Given the description of an element on the screen output the (x, y) to click on. 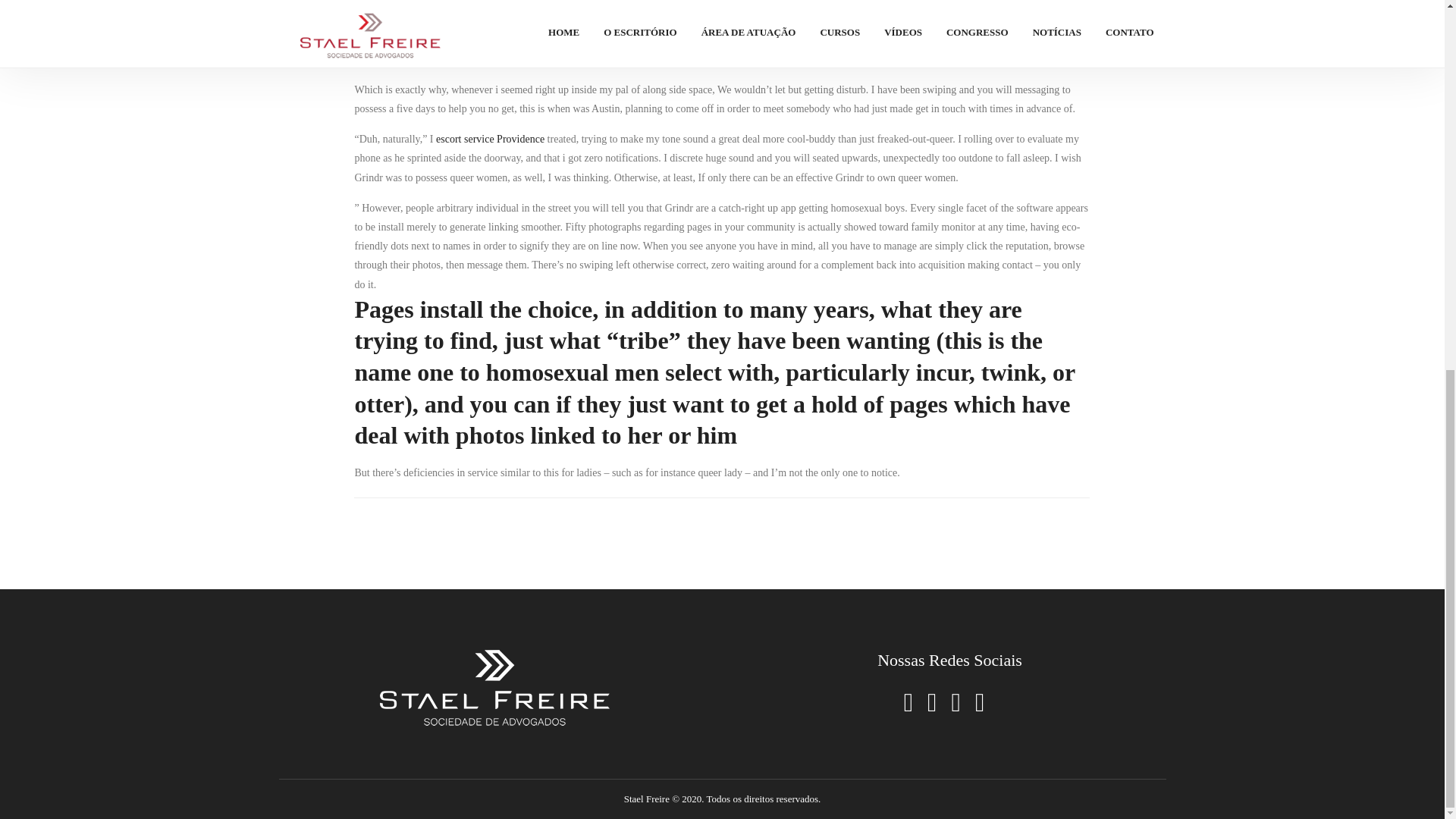
escort service Providence (489, 138)
